Given the description of an element on the screen output the (x, y) to click on. 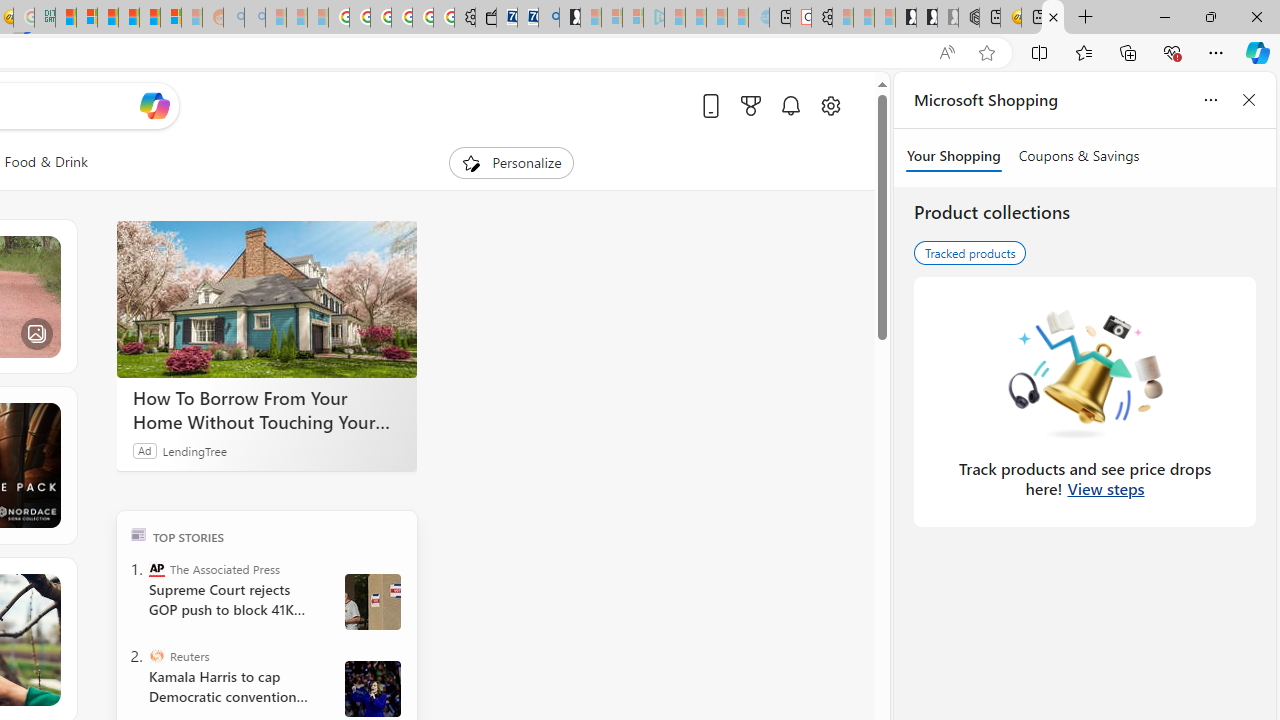
Personalize (511, 162)
LendingTree (194, 450)
Wildlife - MSN (1053, 17)
